Given the description of an element on the screen output the (x, y) to click on. 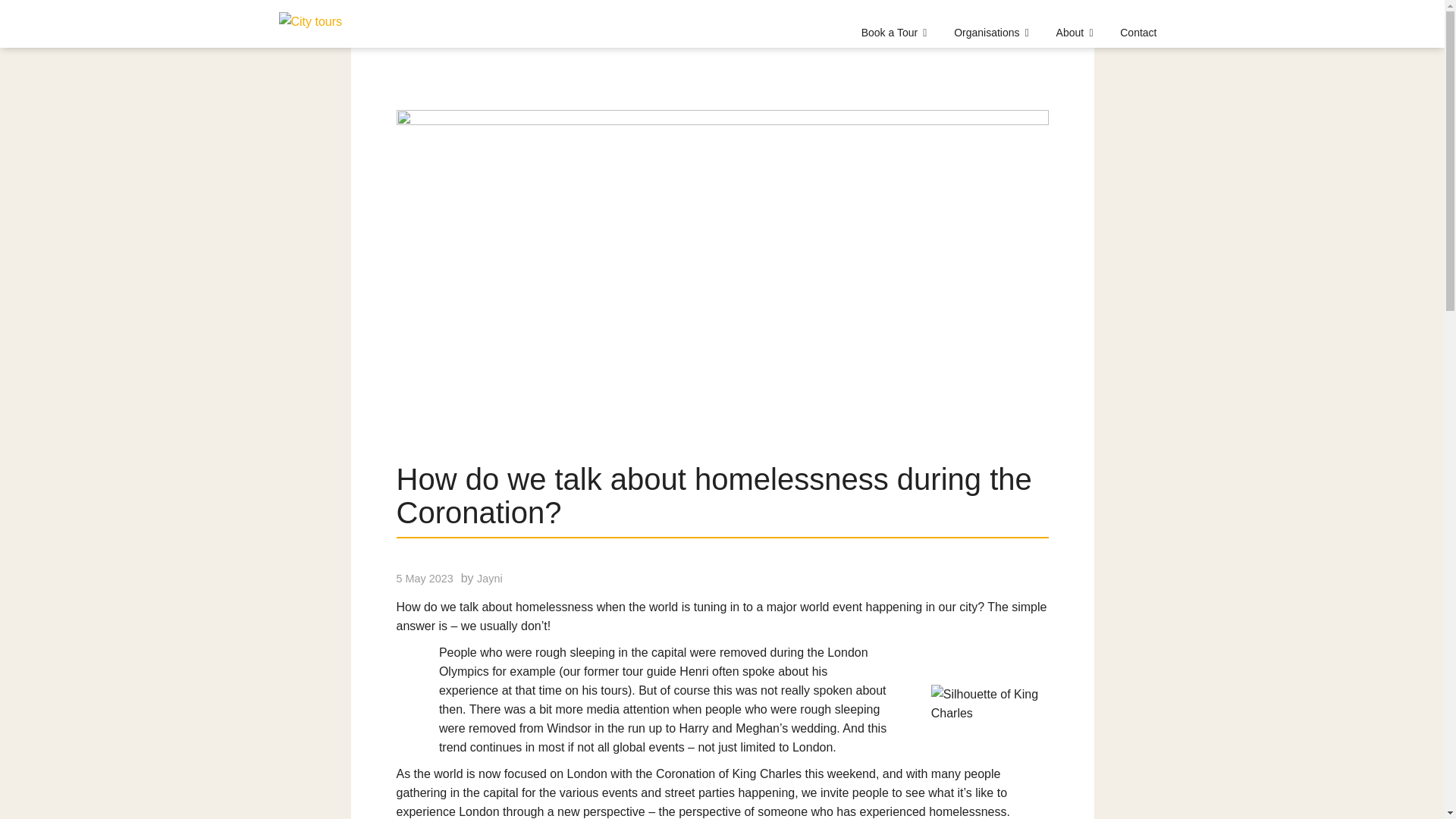
About (1077, 36)
Organisations (993, 36)
Book a Tour (896, 36)
Contact (1138, 36)
